Given the description of an element on the screen output the (x, y) to click on. 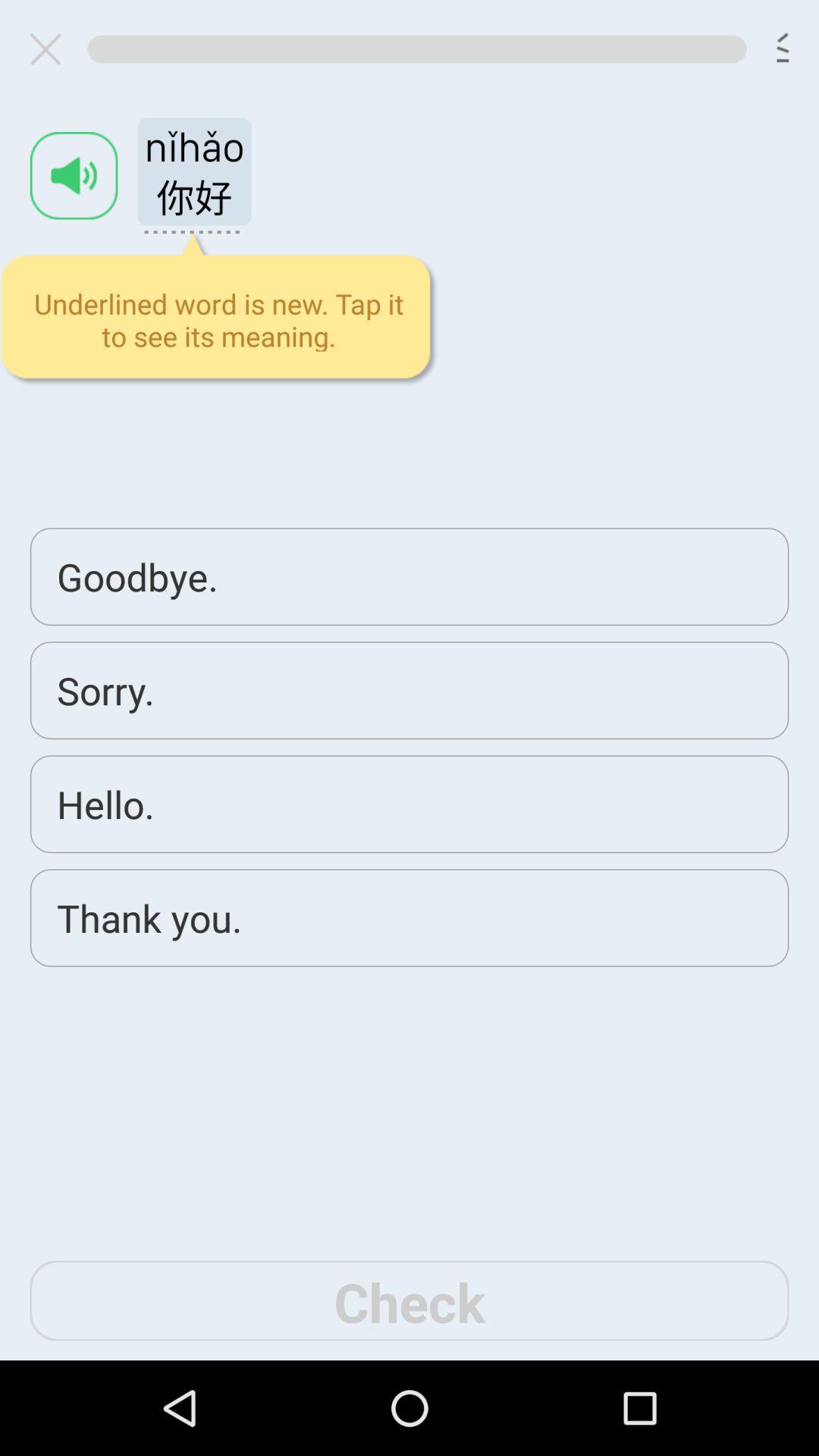
close page (51, 49)
